Given the description of an element on the screen output the (x, y) to click on. 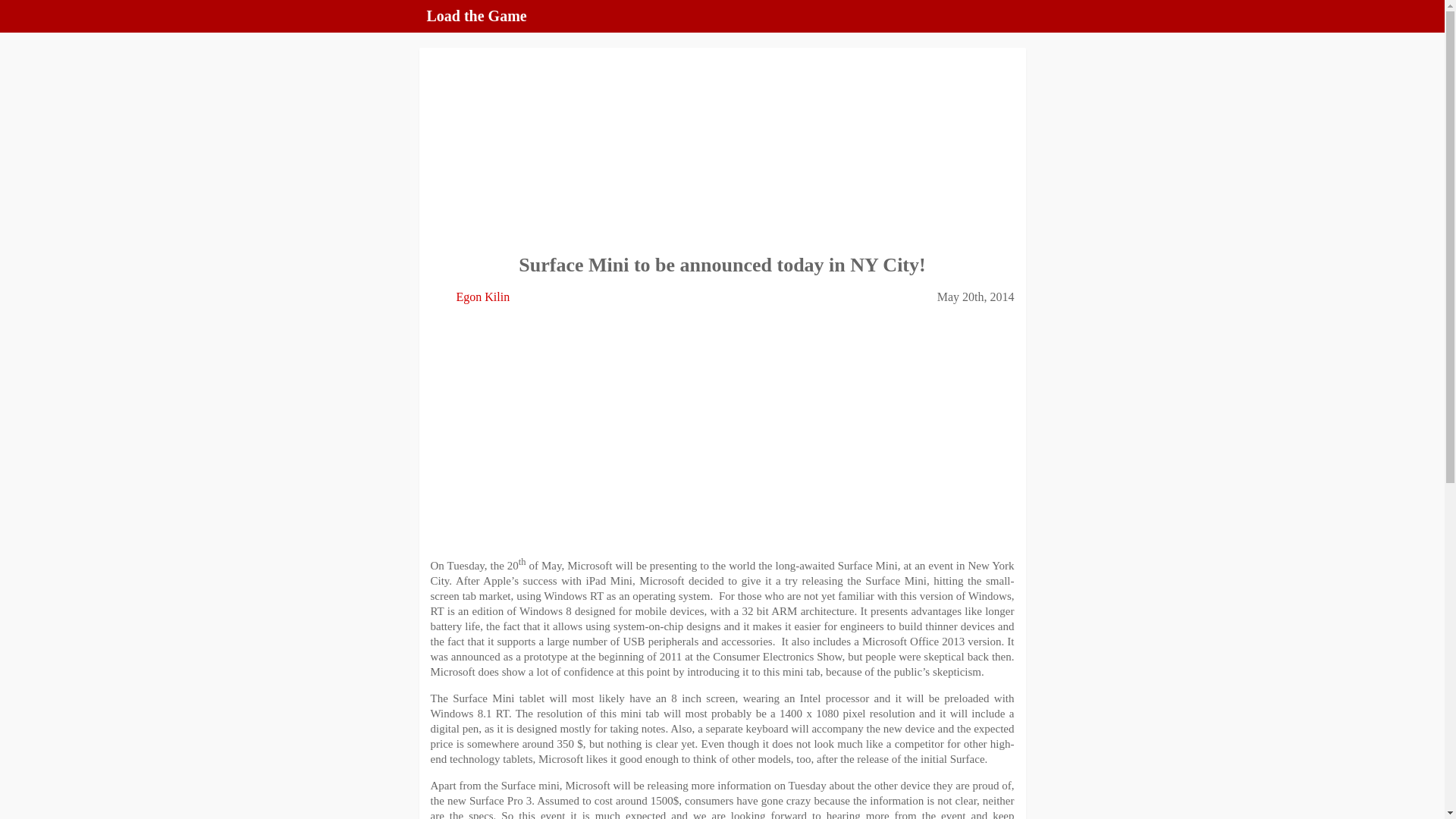
Egon Kilin (484, 296)
Published Date (962, 294)
Author (470, 294)
Load the Game (475, 15)
